Given the description of an element on the screen output the (x, y) to click on. 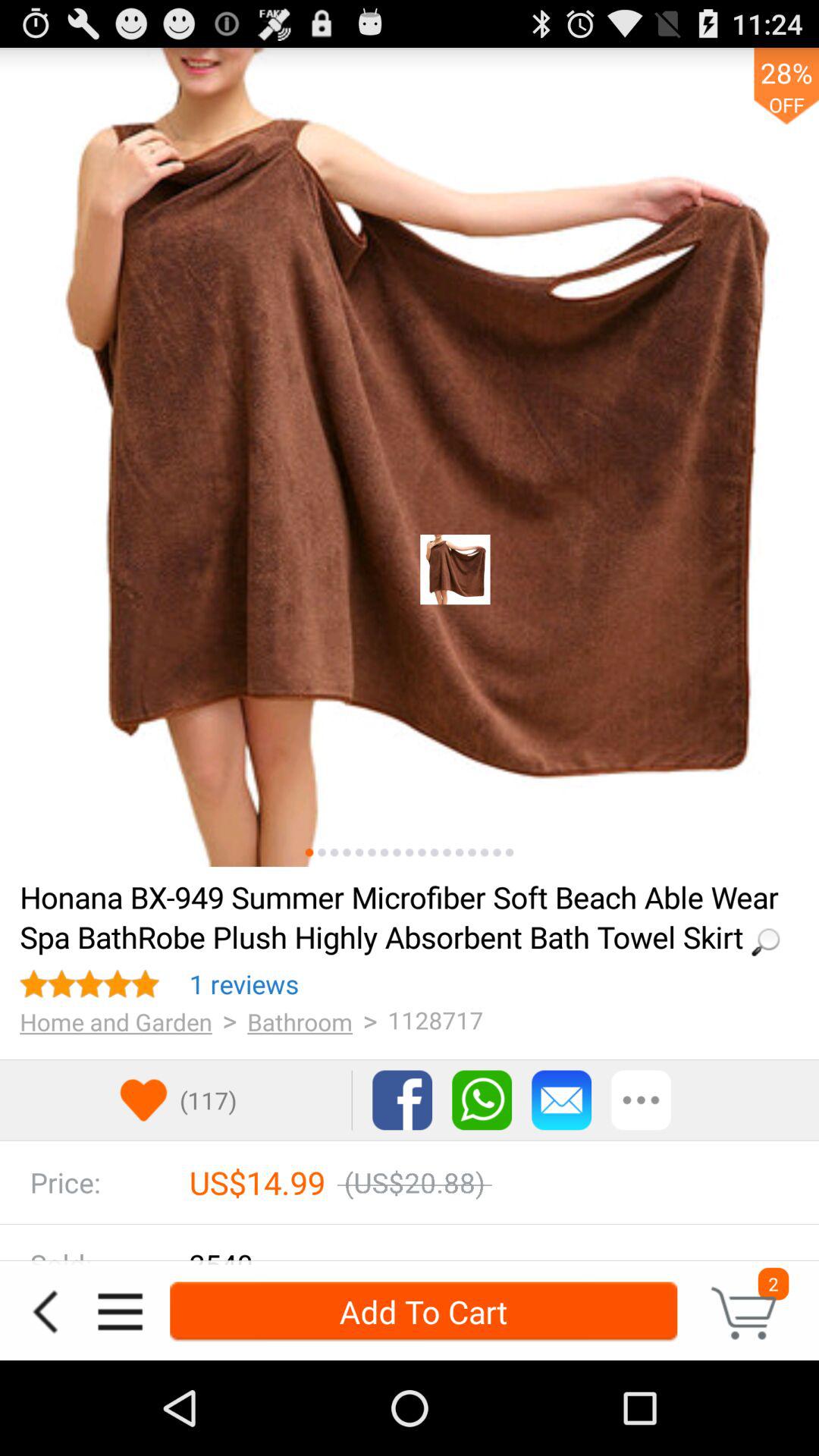
scroll until the home and garden icon (115, 1021)
